Given the description of an element on the screen output the (x, y) to click on. 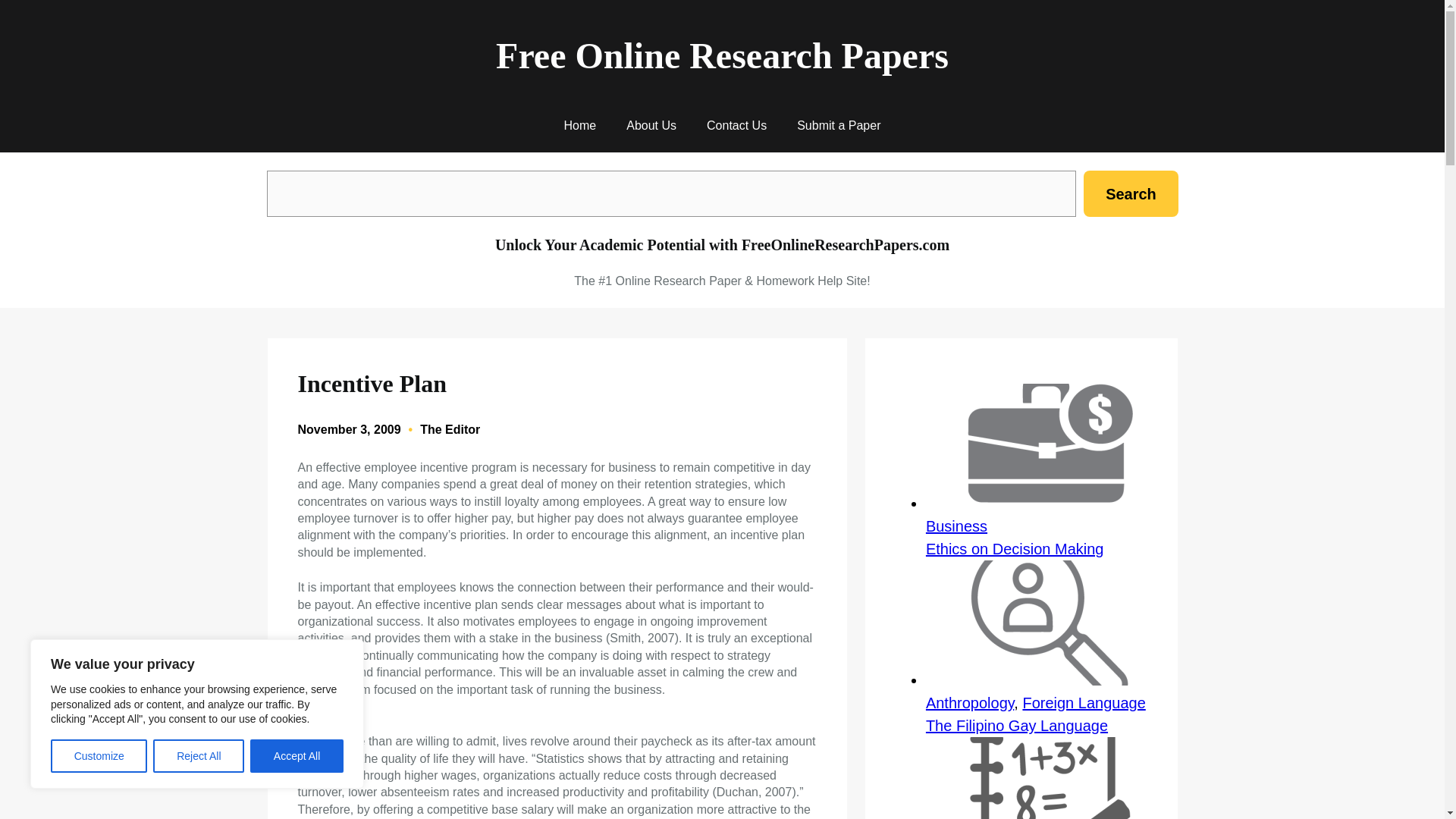
Home (580, 125)
Contact Us (736, 125)
Customize (98, 756)
Submit a Paper (838, 125)
Free Online Research Papers (722, 56)
Search (1130, 193)
Reject All (198, 756)
The Editor (450, 429)
About Us (651, 125)
